Given the description of an element on the screen output the (x, y) to click on. 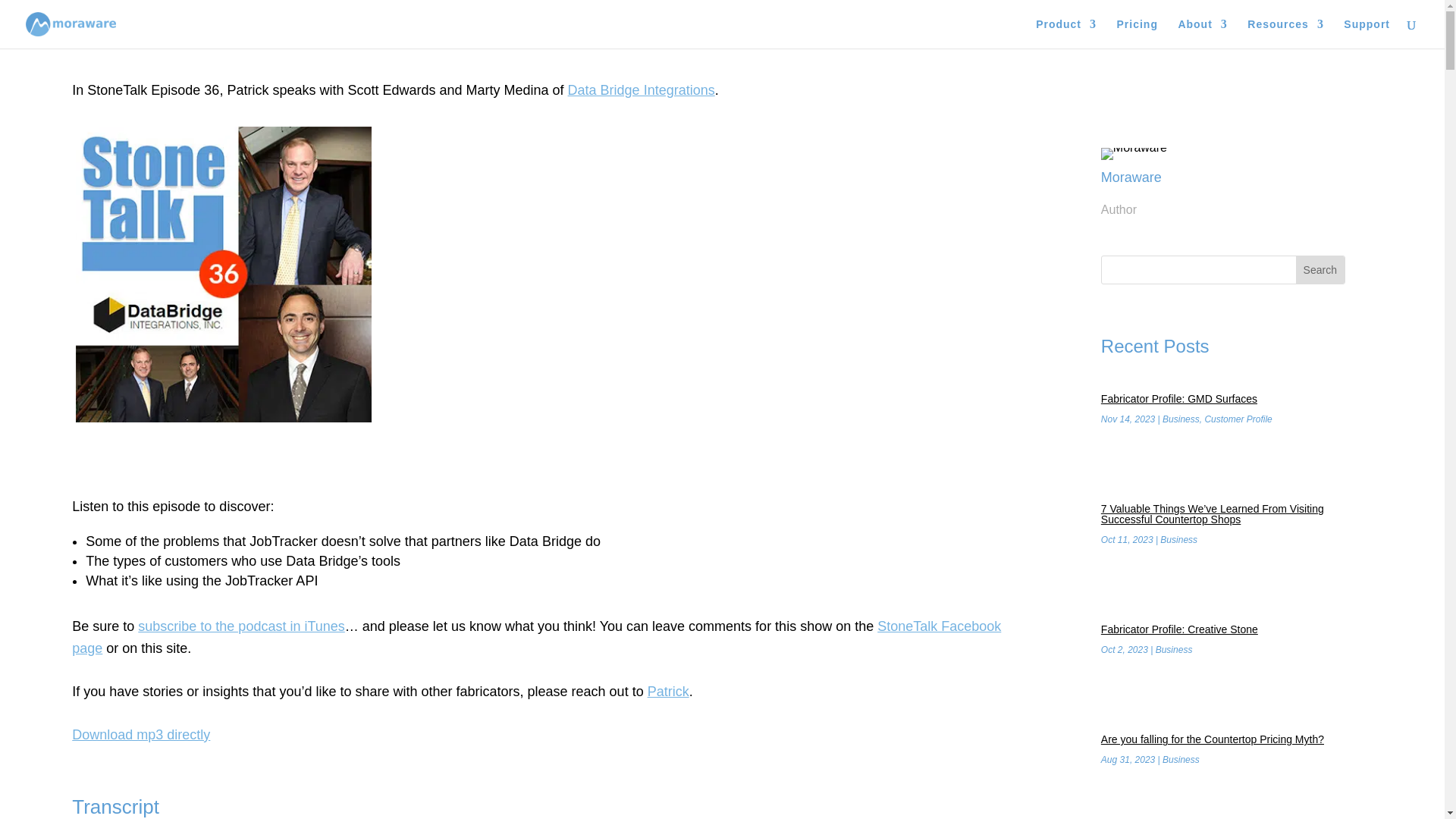
Search (1319, 269)
Search (1319, 269)
Data Bridge Integrations (640, 89)
About (1202, 33)
Support (1366, 33)
Resources (1285, 33)
Pricing (1136, 33)
Product (1065, 33)
subscribe to the podcast in iTunes (241, 626)
